Given the description of an element on the screen output the (x, y) to click on. 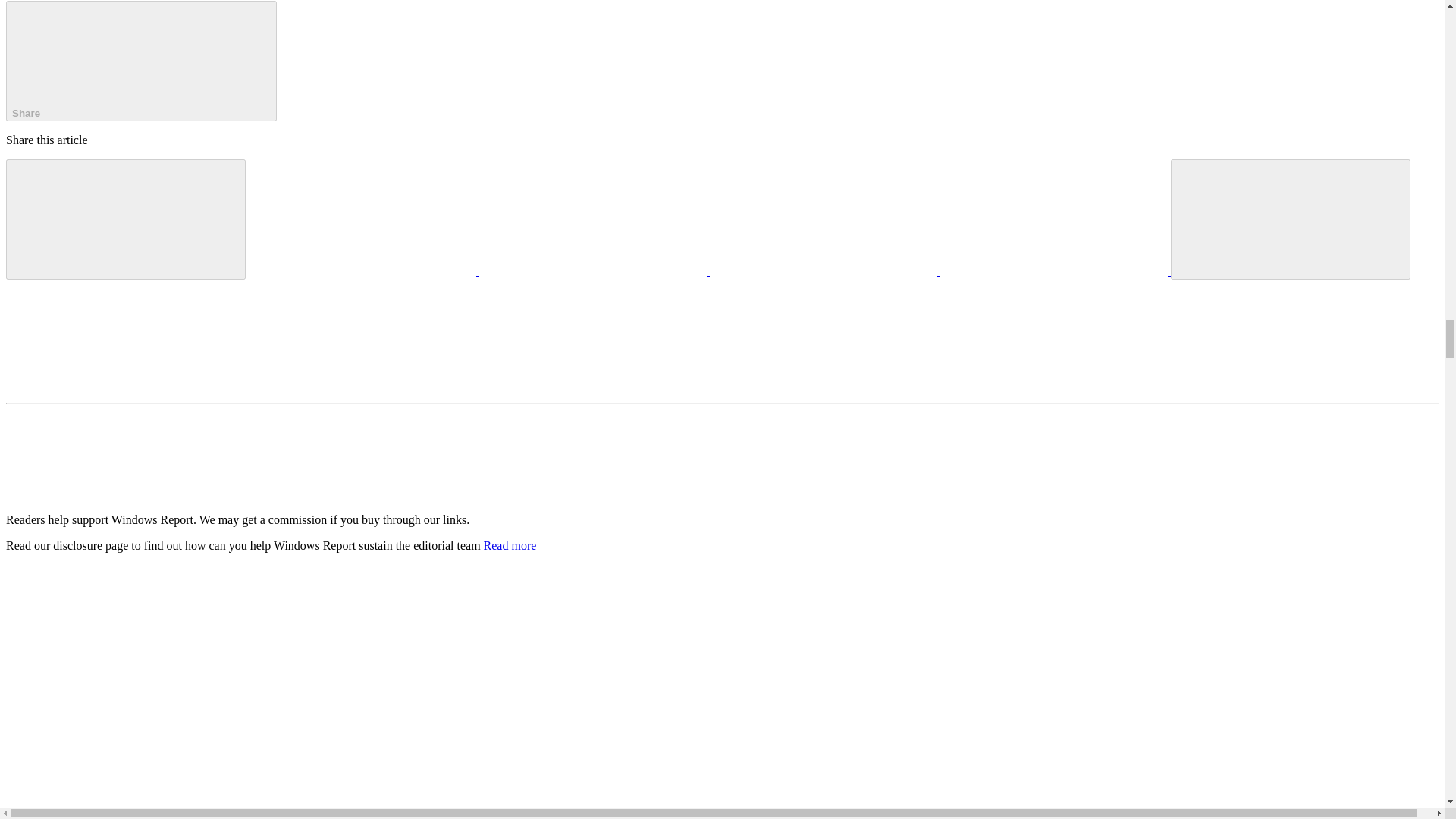
Share this article (140, 60)
